Given the description of an element on the screen output the (x, y) to click on. 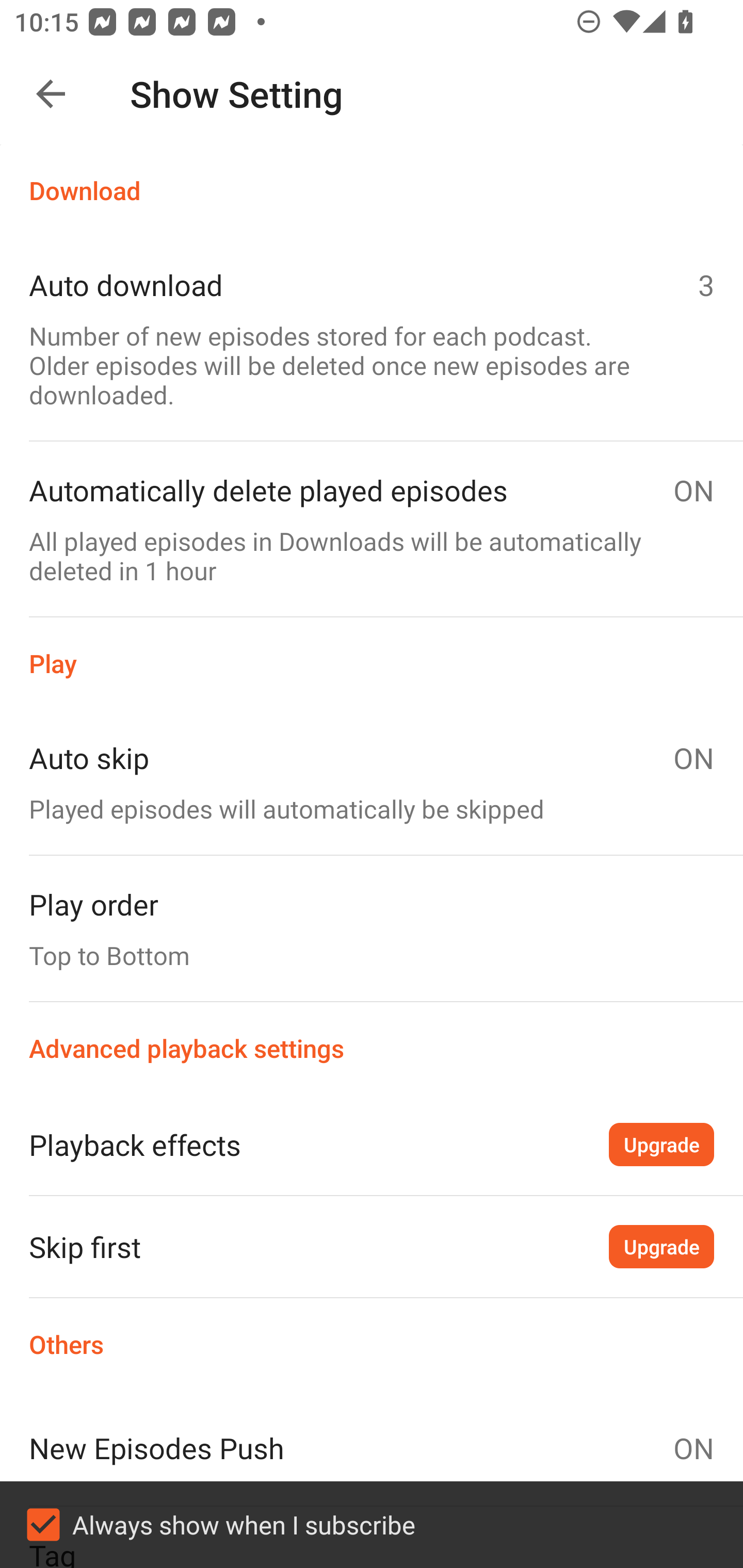
Navigate up (50, 93)
Play order Top to Bottom (371, 928)
Playback effects Upgrade (371, 1144)
Skip first Upgrade (371, 1246)
New Episodes Push ON (371, 1447)
Always show when I subscribe (371, 1524)
